Given the description of an element on the screen output the (x, y) to click on. 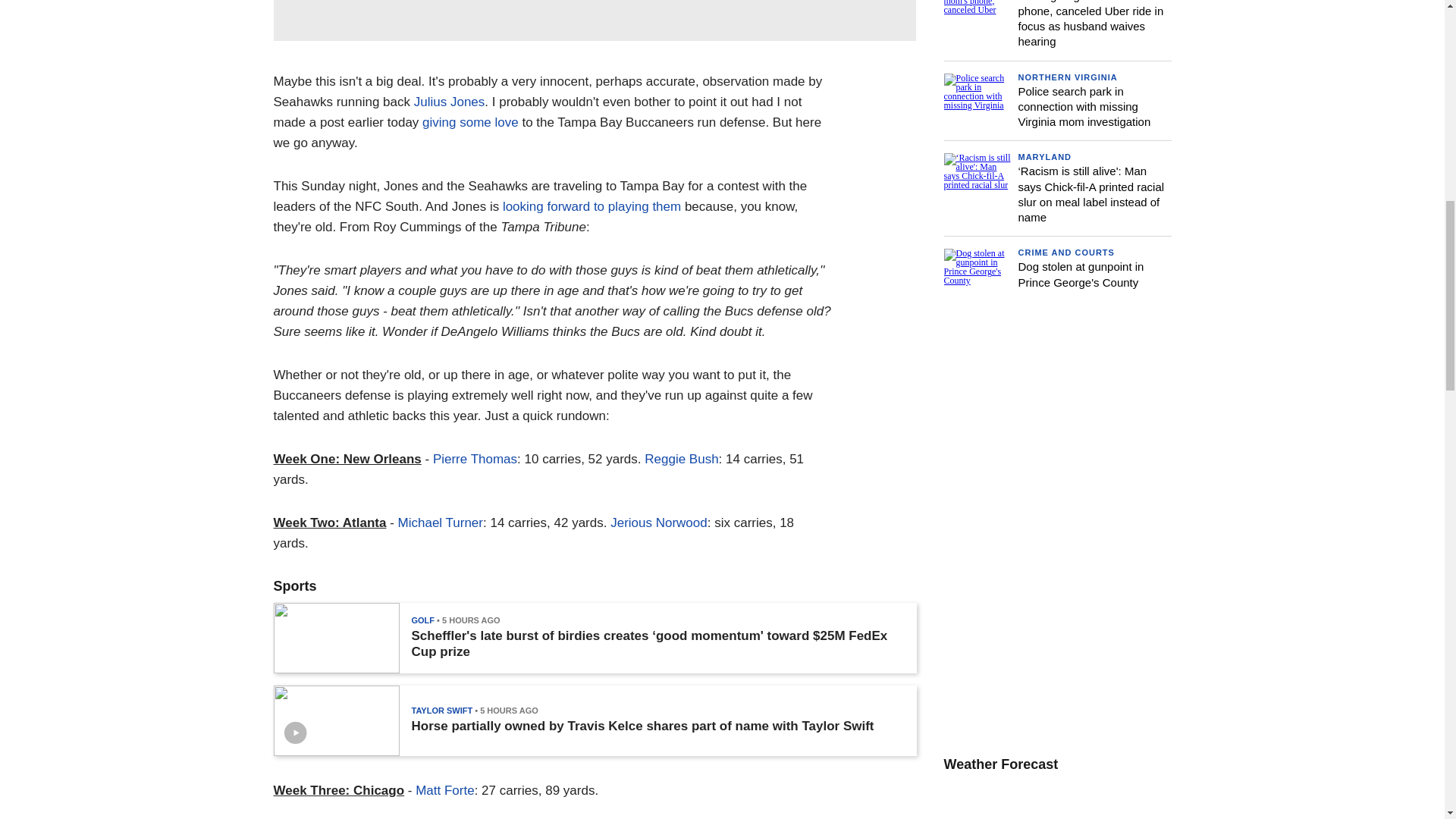
giving some love (470, 122)
GOLF (421, 619)
Michael Turner (440, 522)
Matt Forte (444, 789)
Julius Jones (448, 101)
looking forward to playing them (591, 206)
Reggie Bush (681, 459)
Jerious Norwood (658, 522)
Pierre Thomas (474, 459)
TAYLOR SWIFT (440, 709)
